Given the description of an element on the screen output the (x, y) to click on. 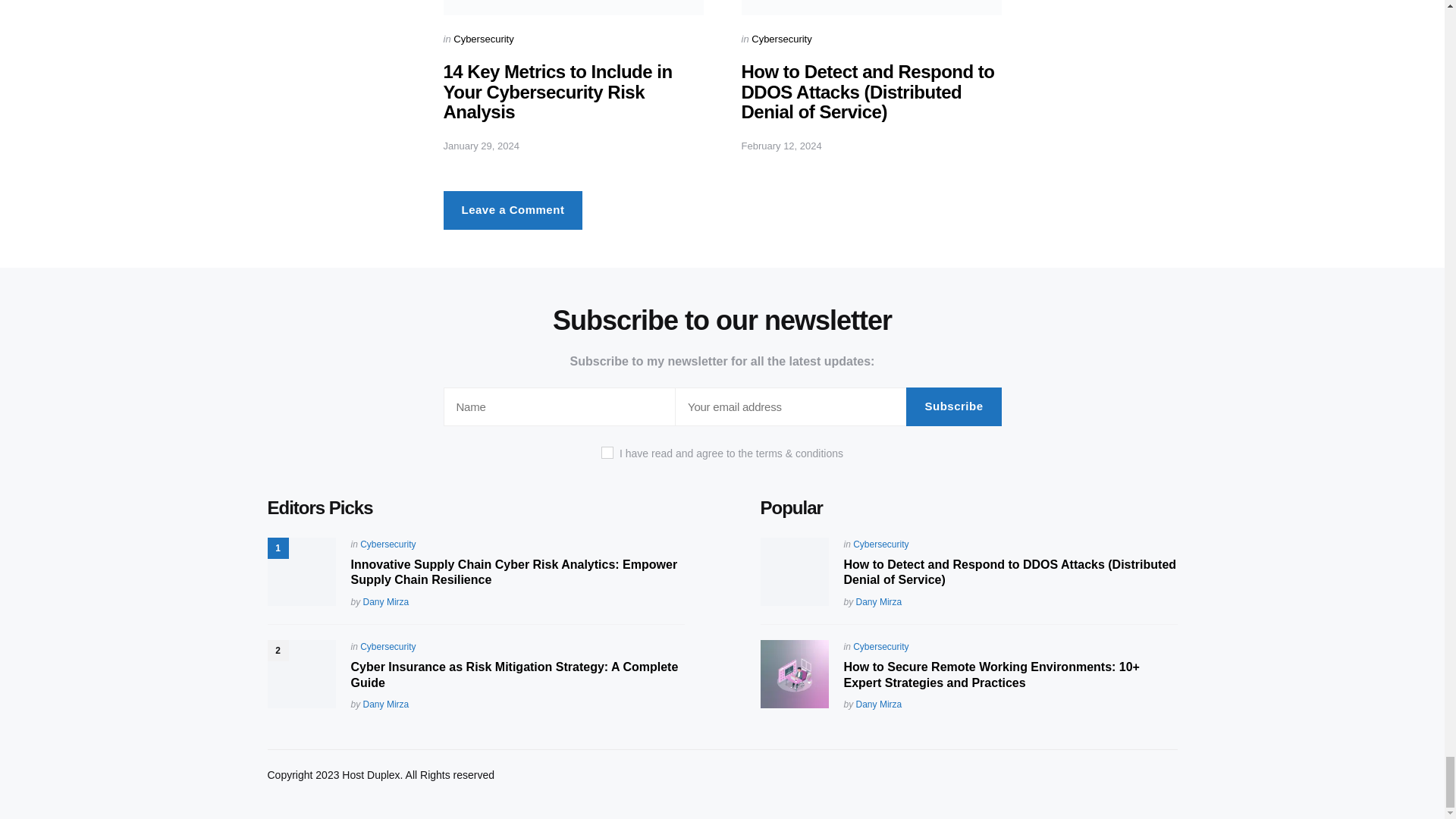
Subscribe (953, 406)
1 (606, 452)
